Given the description of an element on the screen output the (x, y) to click on. 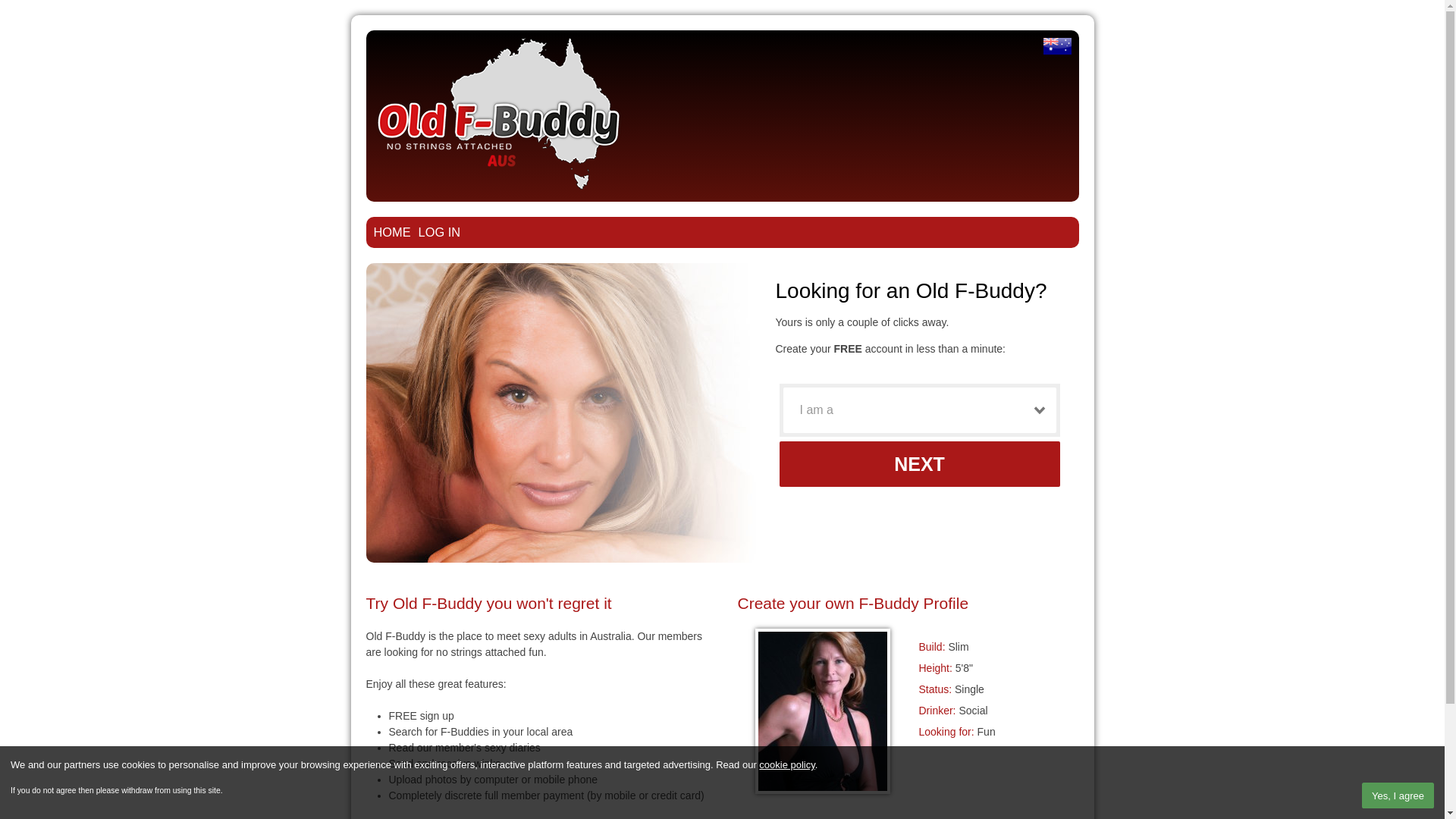
cookie policy Element type: text (786, 764)
LOG IN Element type: text (439, 231)
Yes, I agree Element type: text (1397, 795)
Jump to navigation Element type: text (722, 17)
Old F-Buddy Australia Element type: text (1057, 45)
HOME Element type: text (391, 231)
NEXT Element type: text (919, 463)
